Given the description of an element on the screen output the (x, y) to click on. 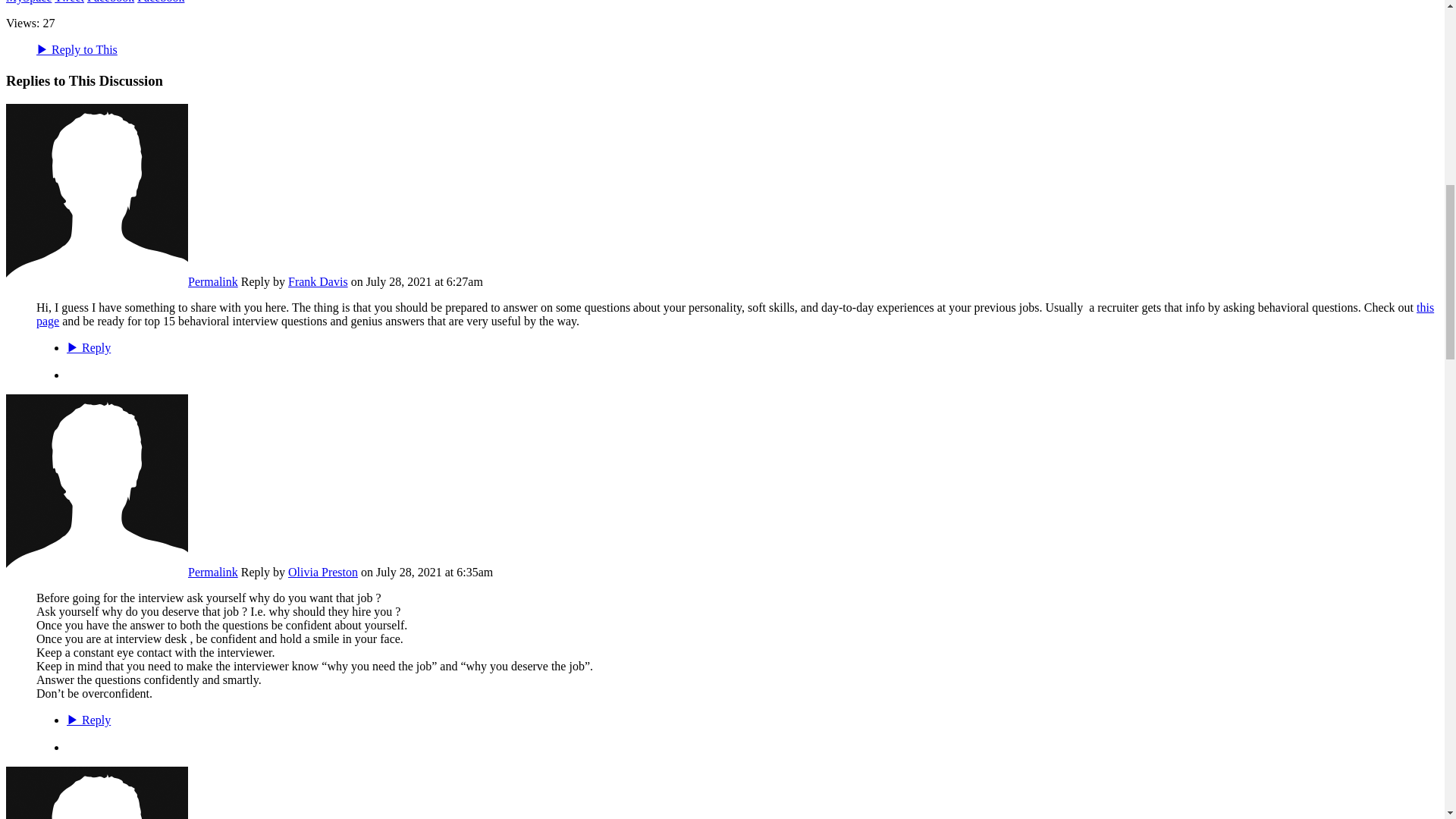
Permalink (212, 571)
MySpace (27, 2)
Facebook (110, 2)
Olivia Preston (323, 571)
Permalink to this Reply (212, 571)
Olivia Preston (96, 571)
Frank Davis (317, 281)
Frank Davis (96, 281)
Permalink (212, 281)
Tweet (69, 2)
Facebook (160, 2)
Permalink to this Reply (212, 281)
